Given the description of an element on the screen output the (x, y) to click on. 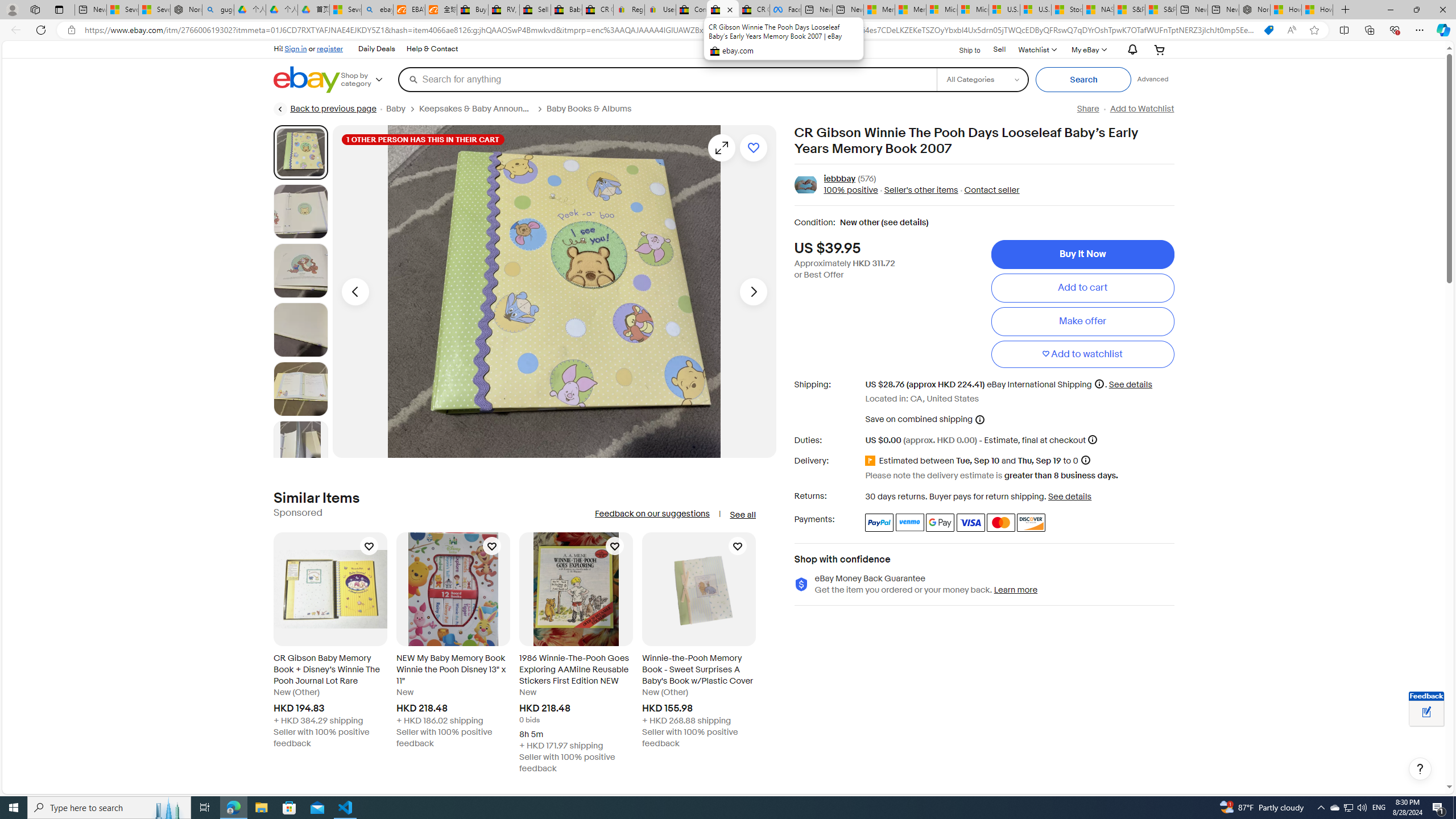
Browser essentials (1394, 29)
New Tab (1346, 9)
Address and search bar (669, 29)
Seller's other items (920, 190)
Baby Books & Albums (593, 108)
Settings and more (Alt+F) (1419, 29)
Baby Keepsakes & Announcements for sale | eBay (566, 9)
Venmo (909, 521)
